Given the description of an element on the screen output the (x, y) to click on. 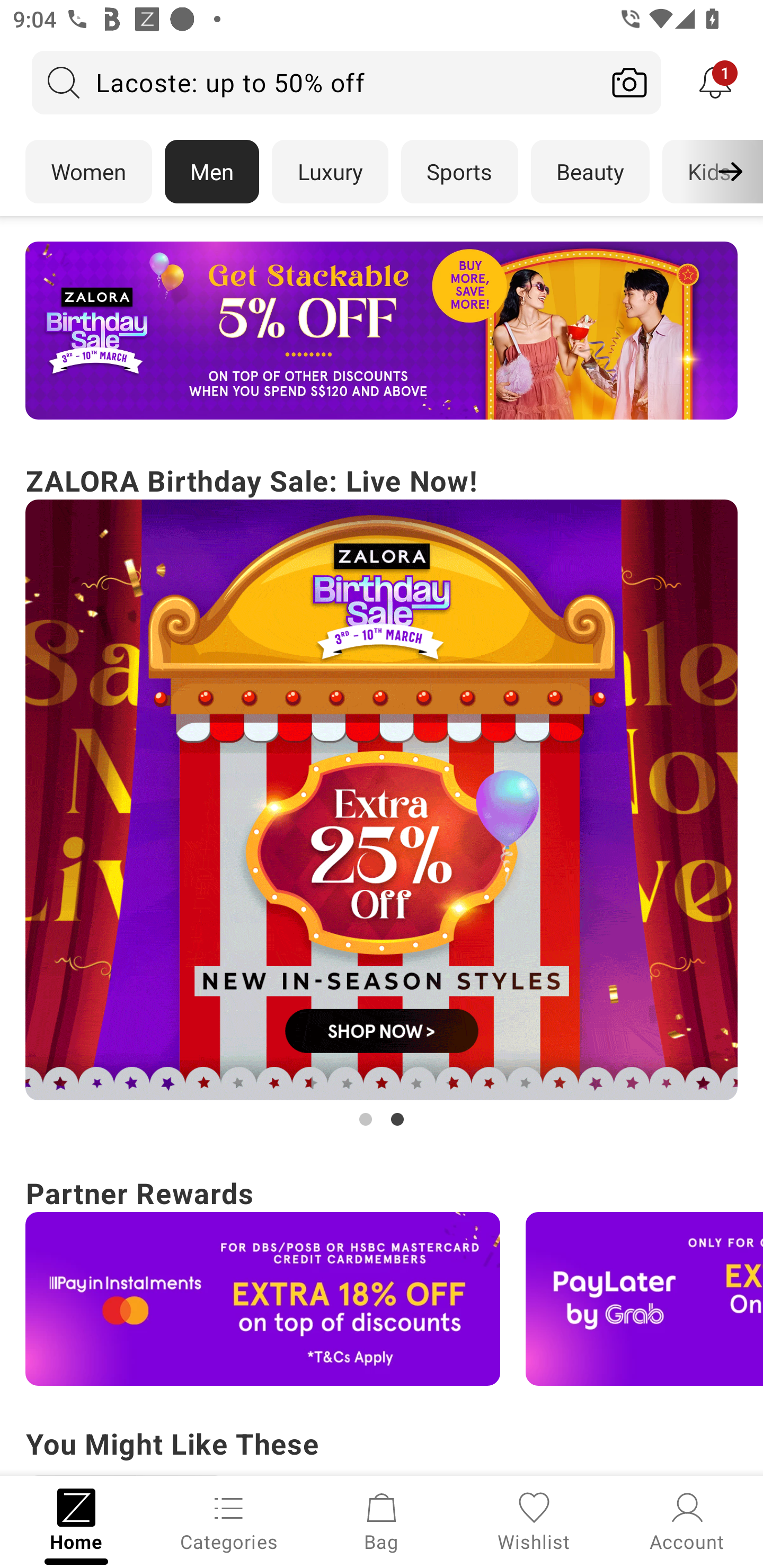
Lacoste: up to 50% off (314, 82)
Women (88, 171)
Men (211, 171)
Luxury (329, 171)
Sports (459, 171)
Beauty (590, 171)
Campaign banner (381, 330)
ZALORA Birthday Sale: Live Now! Campaign banner (381, 794)
Campaign banner (381, 800)
Partner Rewards Campaign banner Campaign banner (381, 1277)
Campaign banner (262, 1299)
Campaign banner (644, 1299)
Categories (228, 1519)
Bag (381, 1519)
Wishlist (533, 1519)
Account (686, 1519)
